Given the description of an element on the screen output the (x, y) to click on. 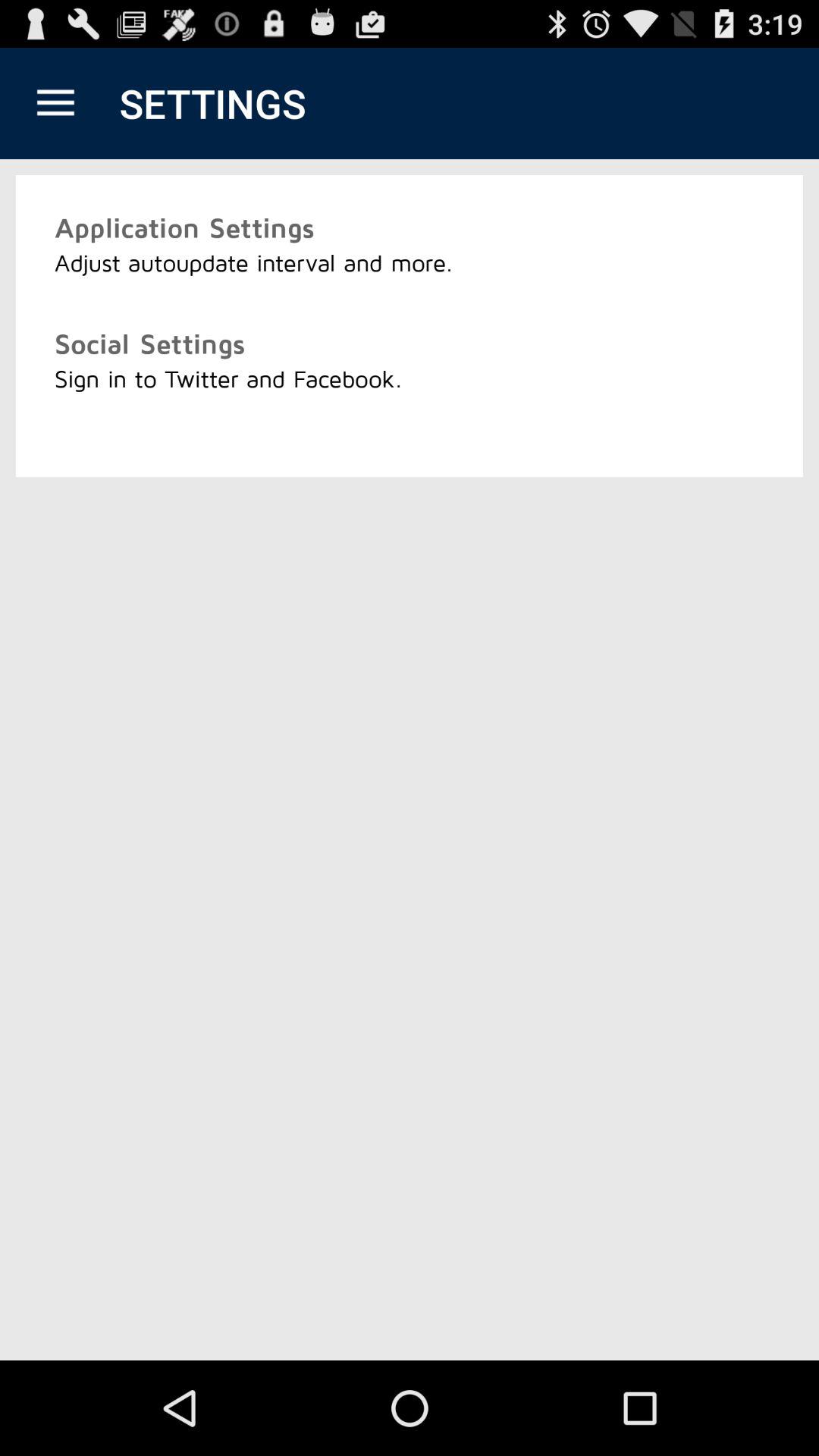
turn on icon above application settings icon (55, 103)
